Given the description of an element on the screen output the (x, y) to click on. 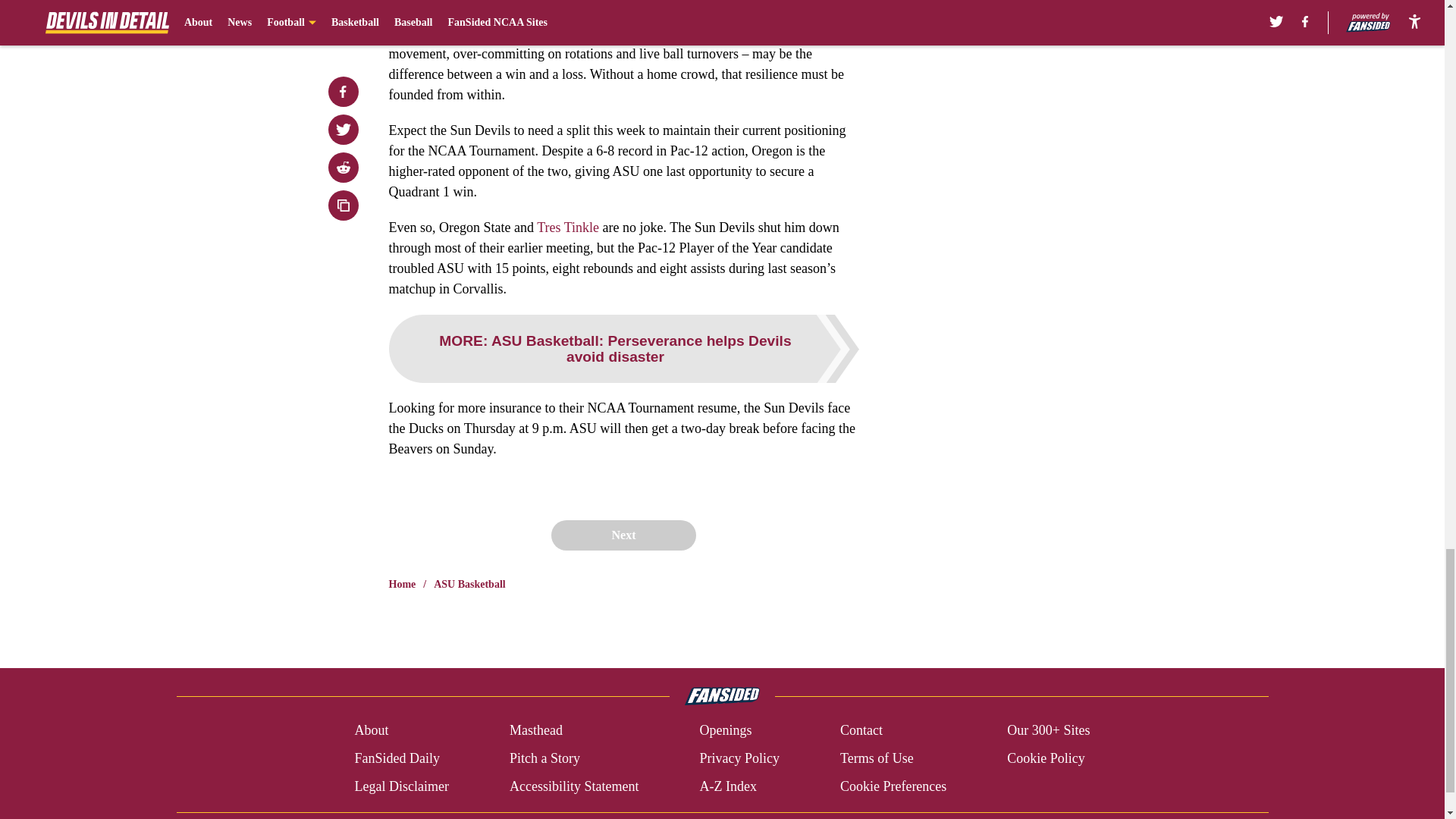
Openings (724, 730)
Privacy Policy (738, 758)
Terms of Use (877, 758)
About (370, 730)
Home (401, 584)
ASU Basketball (469, 584)
Next (622, 535)
Pitch a Story (544, 758)
FanSided Daily (396, 758)
Tres Tinkle (567, 227)
Contact (861, 730)
Masthead (535, 730)
